Given the description of an element on the screen output the (x, y) to click on. 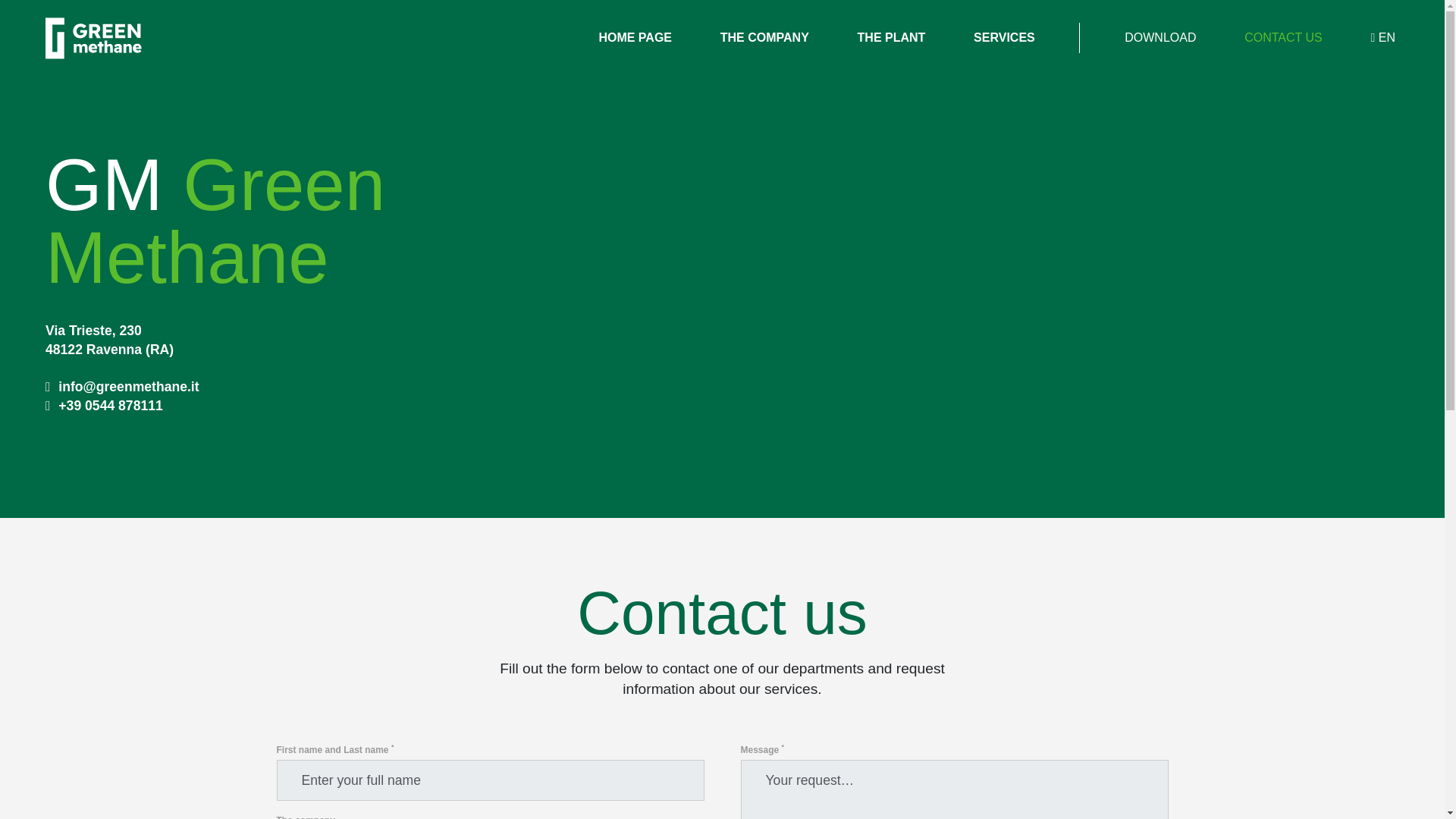
CONTACT US (1283, 38)
HOME PAGE (634, 38)
SERVICES (1004, 38)
THE PLANT (891, 38)
EN (1383, 38)
TEL (104, 404)
THE COMPANY (764, 38)
DOWNLOAD (1160, 38)
